Given the description of an element on the screen output the (x, y) to click on. 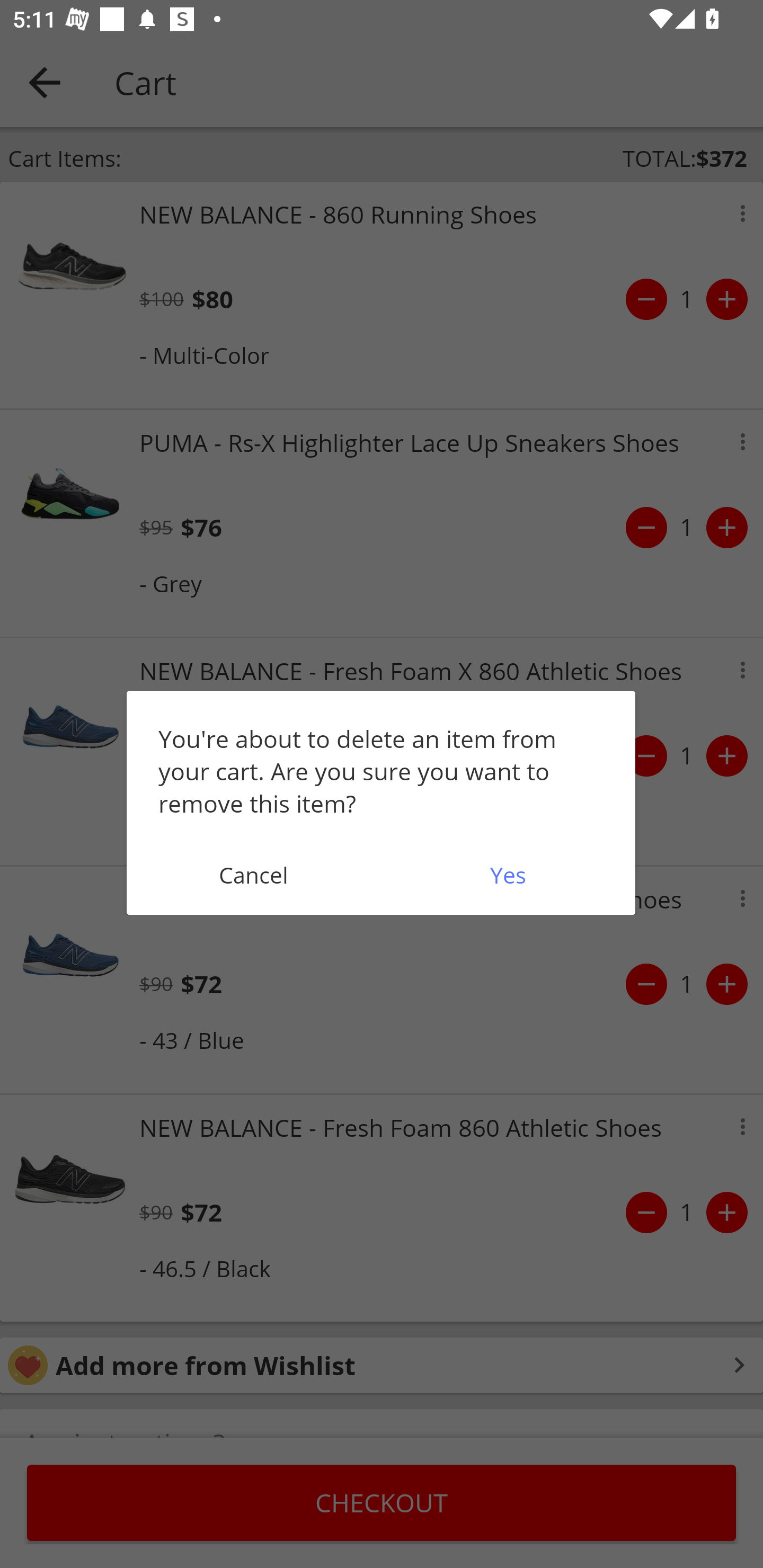
Cancel (253, 874)
Yes (507, 874)
